Given the description of an element on the screen output the (x, y) to click on. 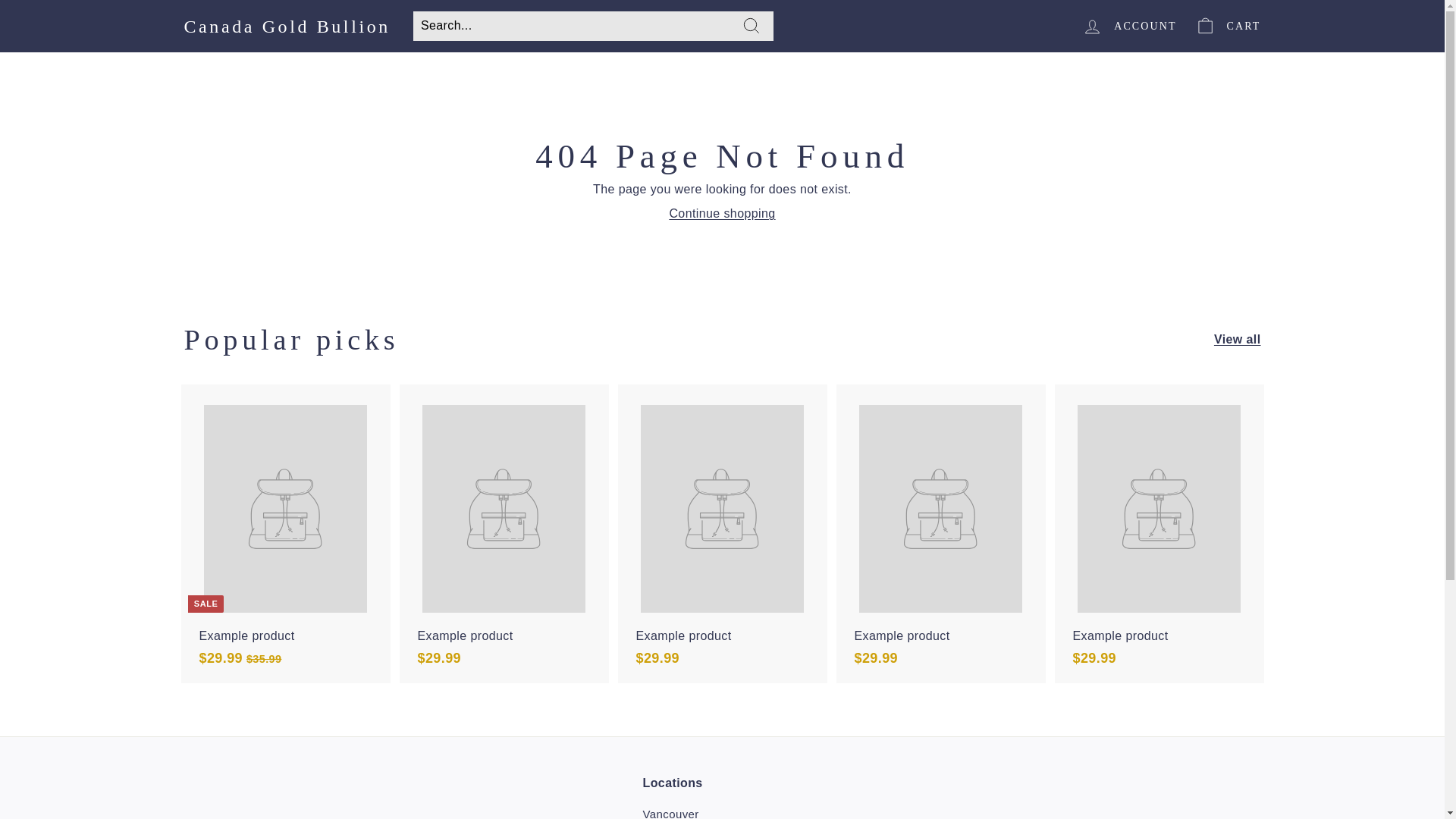
View all (1237, 339)
Continue shopping (721, 213)
Vancouver (670, 811)
ACCOUNT (1129, 26)
Canada Gold Bullion (286, 25)
